Given the description of an element on the screen output the (x, y) to click on. 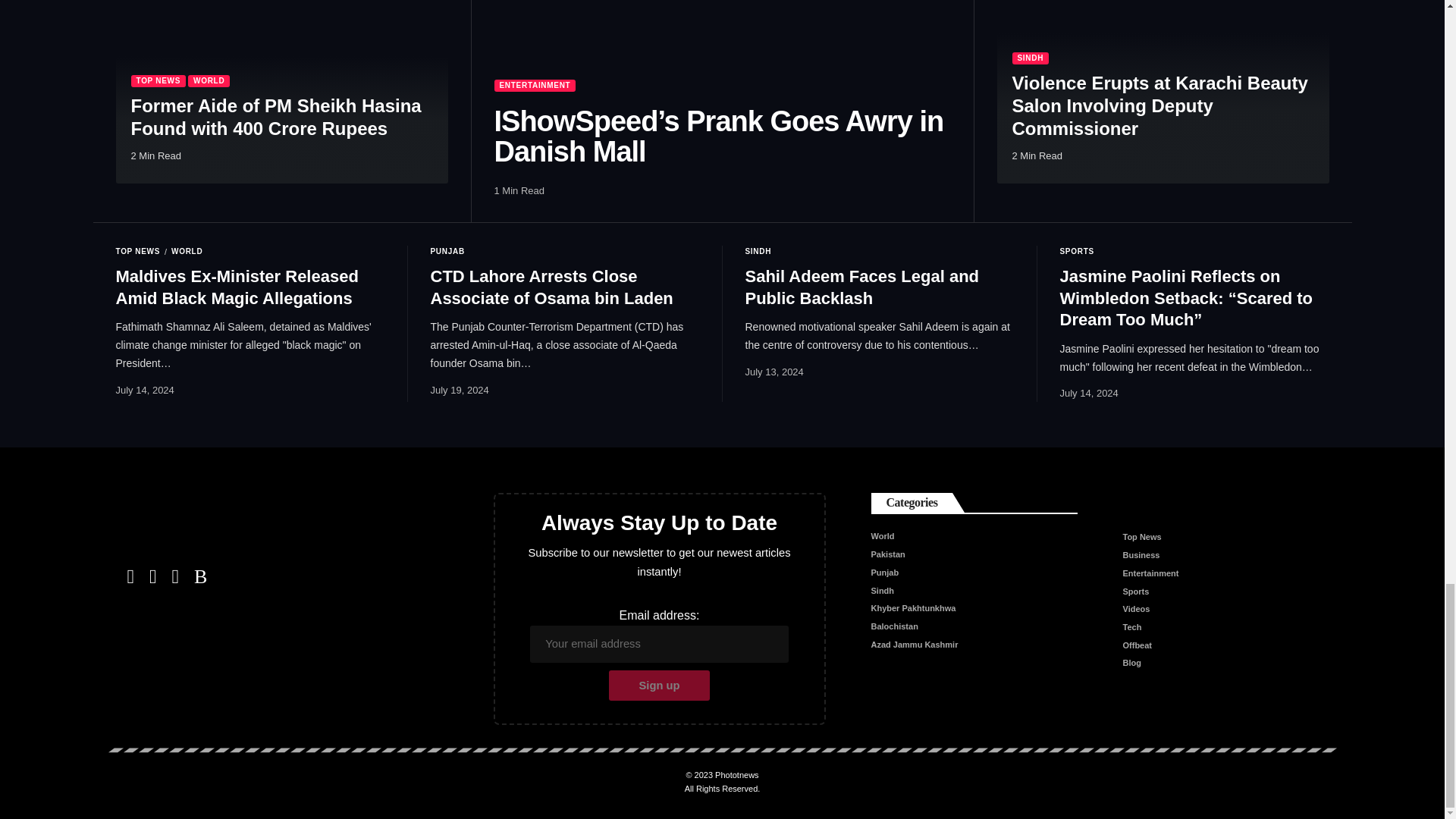
Sign up (659, 685)
Former Aide of PM Sheikh Hasina Found with 400 Crore Rupees (280, 91)
